Given the description of an element on the screen output the (x, y) to click on. 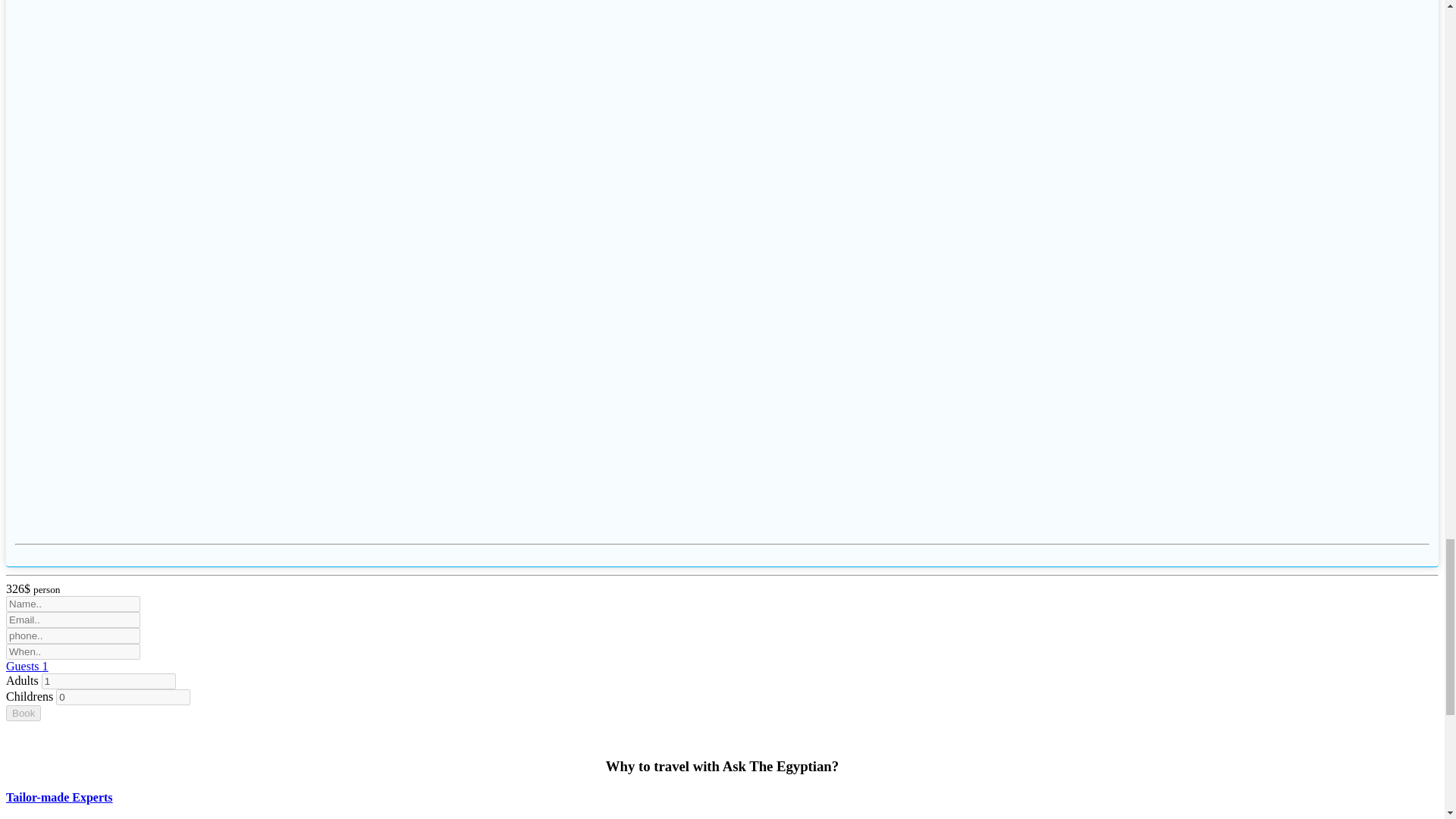
1 (109, 681)
Book (22, 713)
Book (22, 713)
Guests 1 (26, 666)
0 (123, 697)
